Given the description of an element on the screen output the (x, y) to click on. 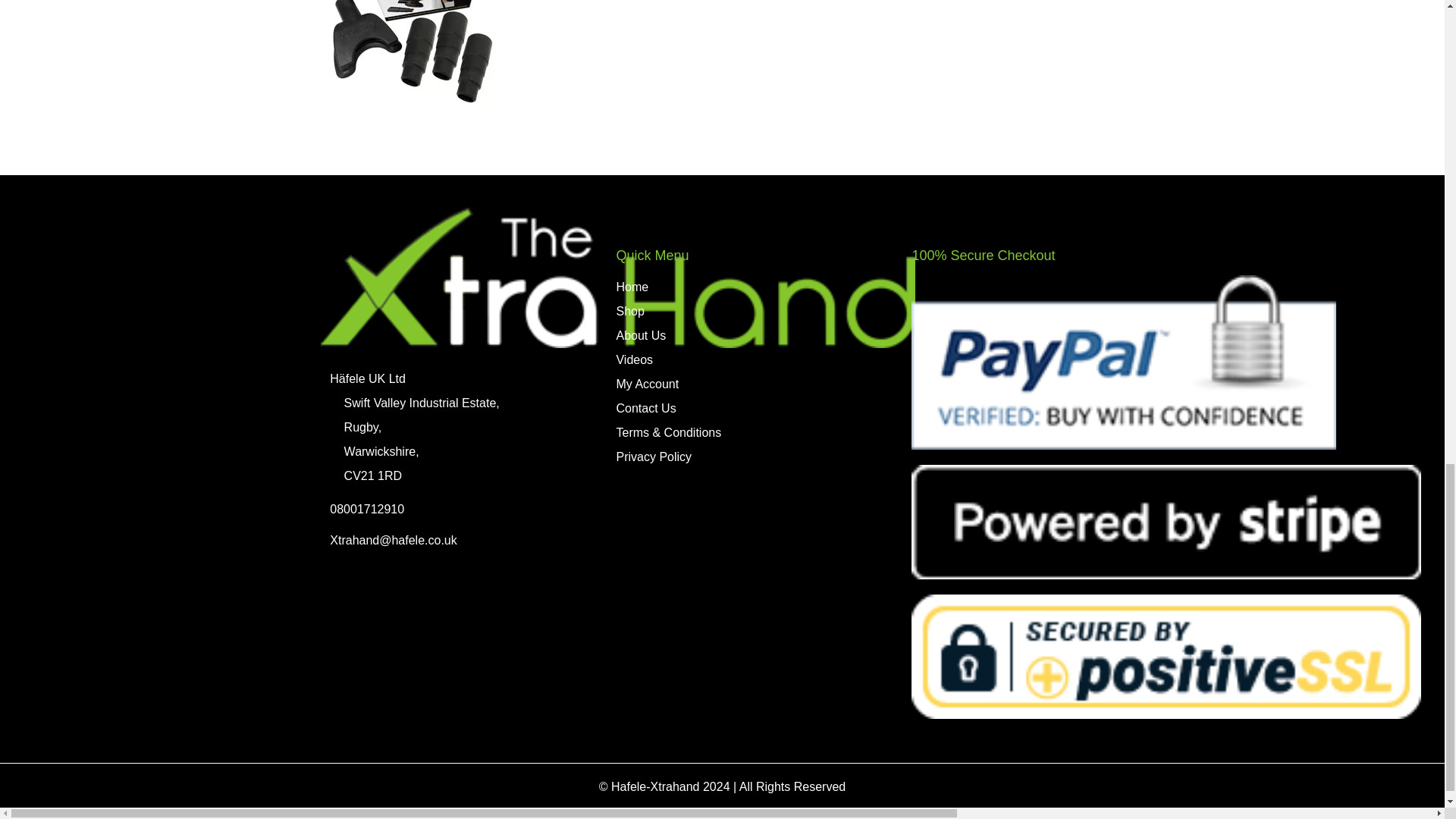
Videos (633, 359)
Home (631, 286)
08001712910 (367, 508)
About Us (640, 335)
Shop (629, 310)
